Given the description of an element on the screen output the (x, y) to click on. 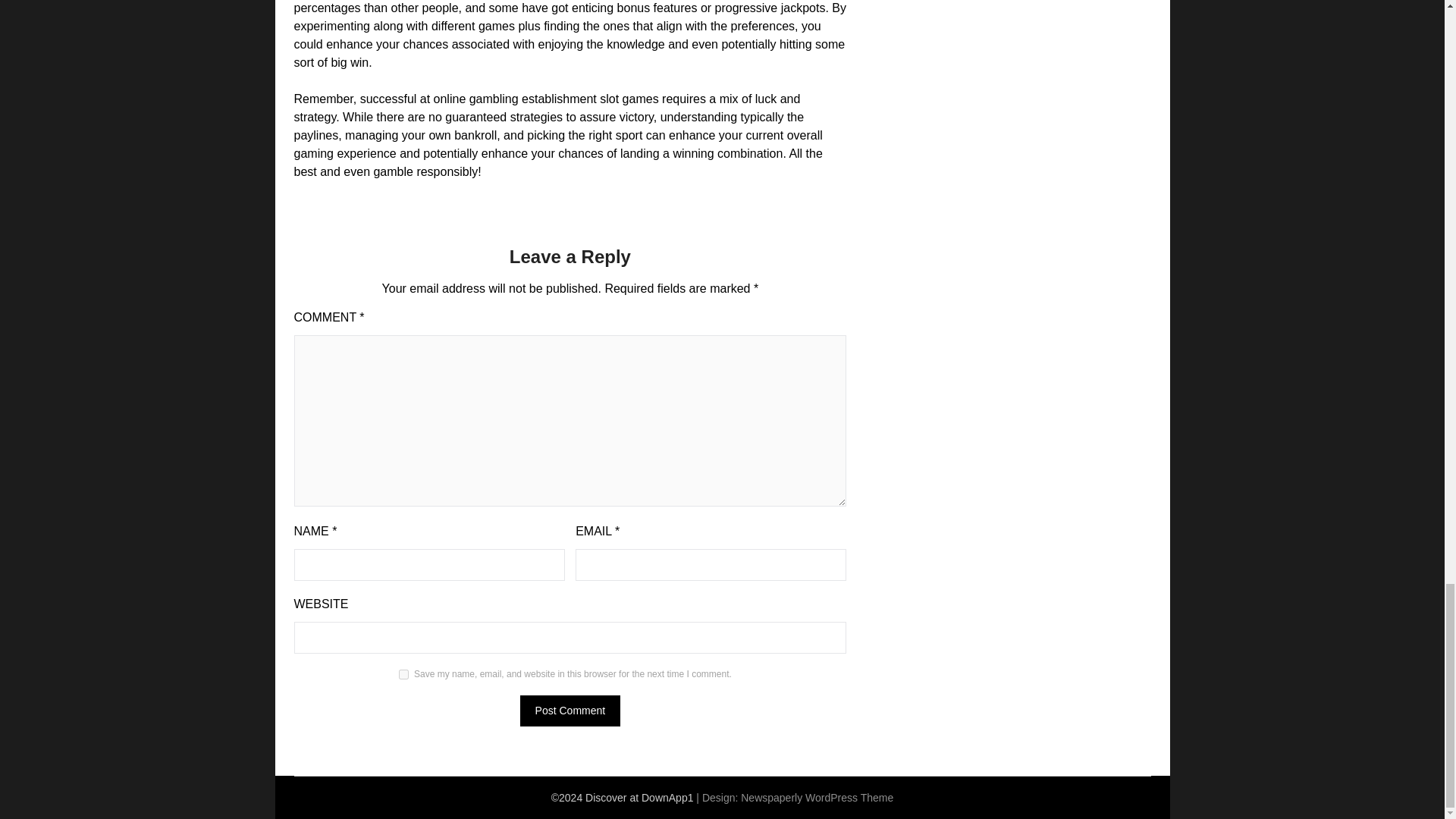
Post Comment (570, 710)
Post Comment (570, 710)
yes (403, 674)
